Given the description of an element on the screen output the (x, y) to click on. 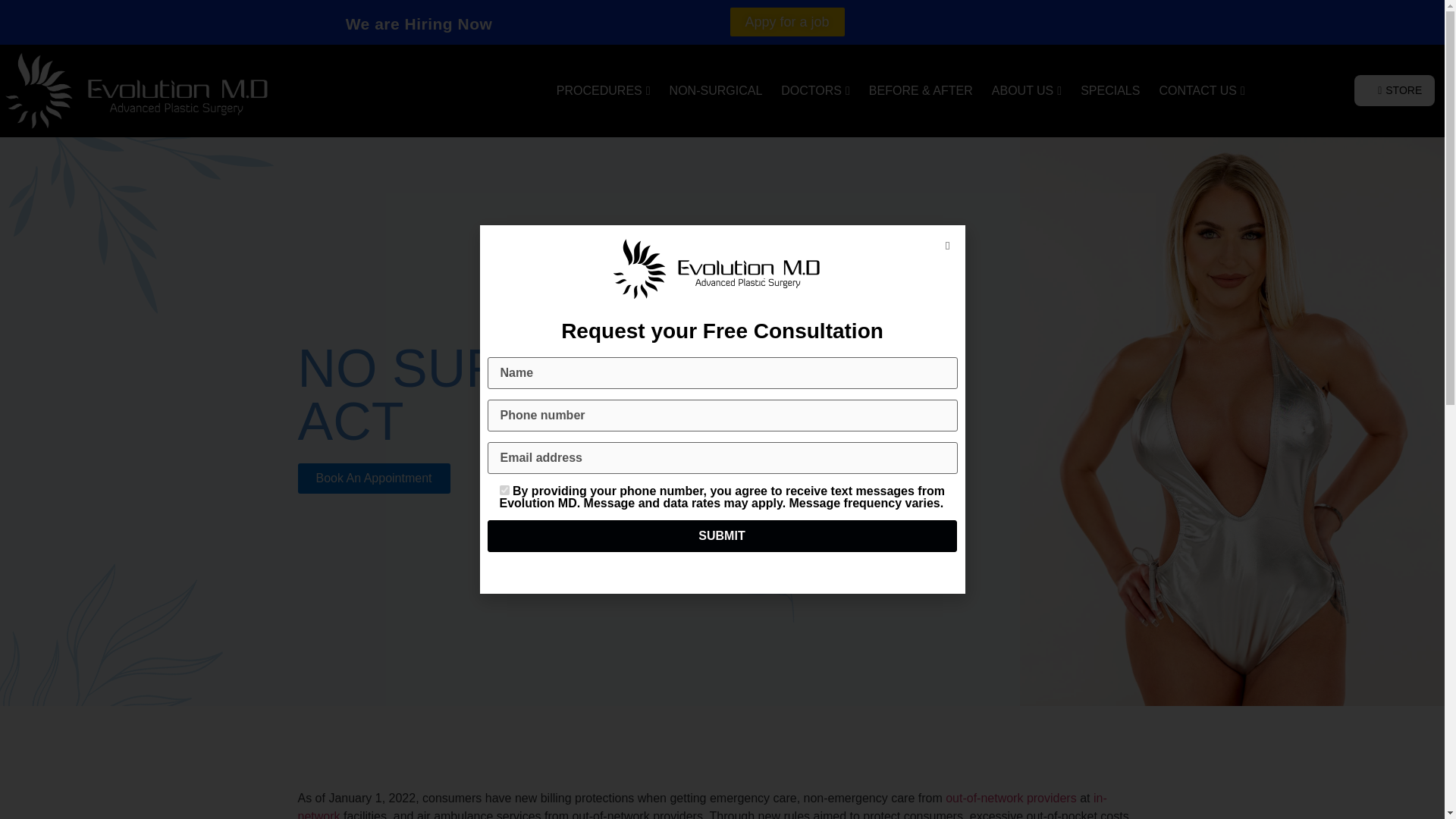
1 (503, 490)
Appy for a job (696, 21)
SUBMIT (721, 536)
